Given the description of an element on the screen output the (x, y) to click on. 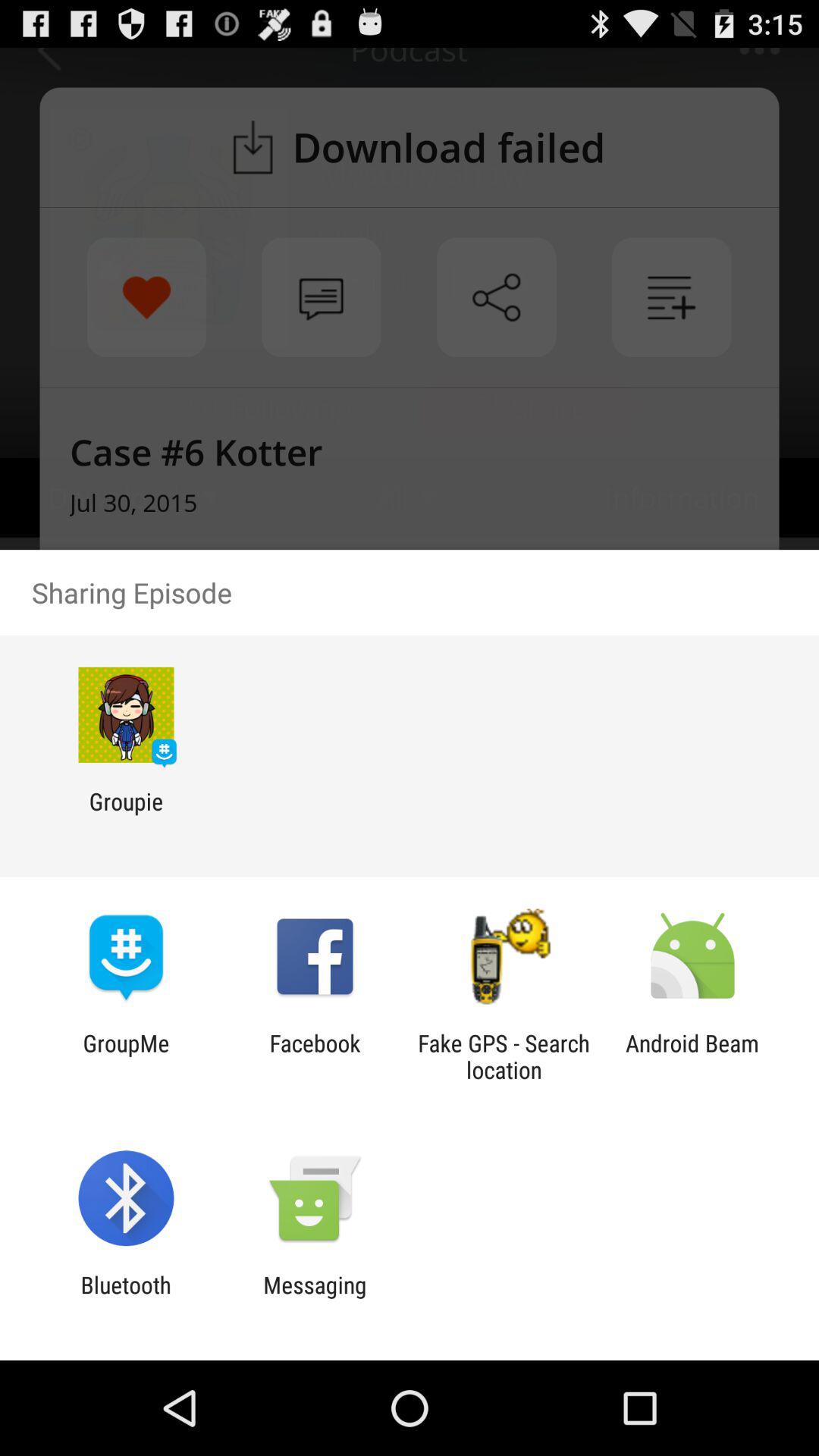
select item next to the facebook (503, 1056)
